Given the description of an element on the screen output the (x, y) to click on. 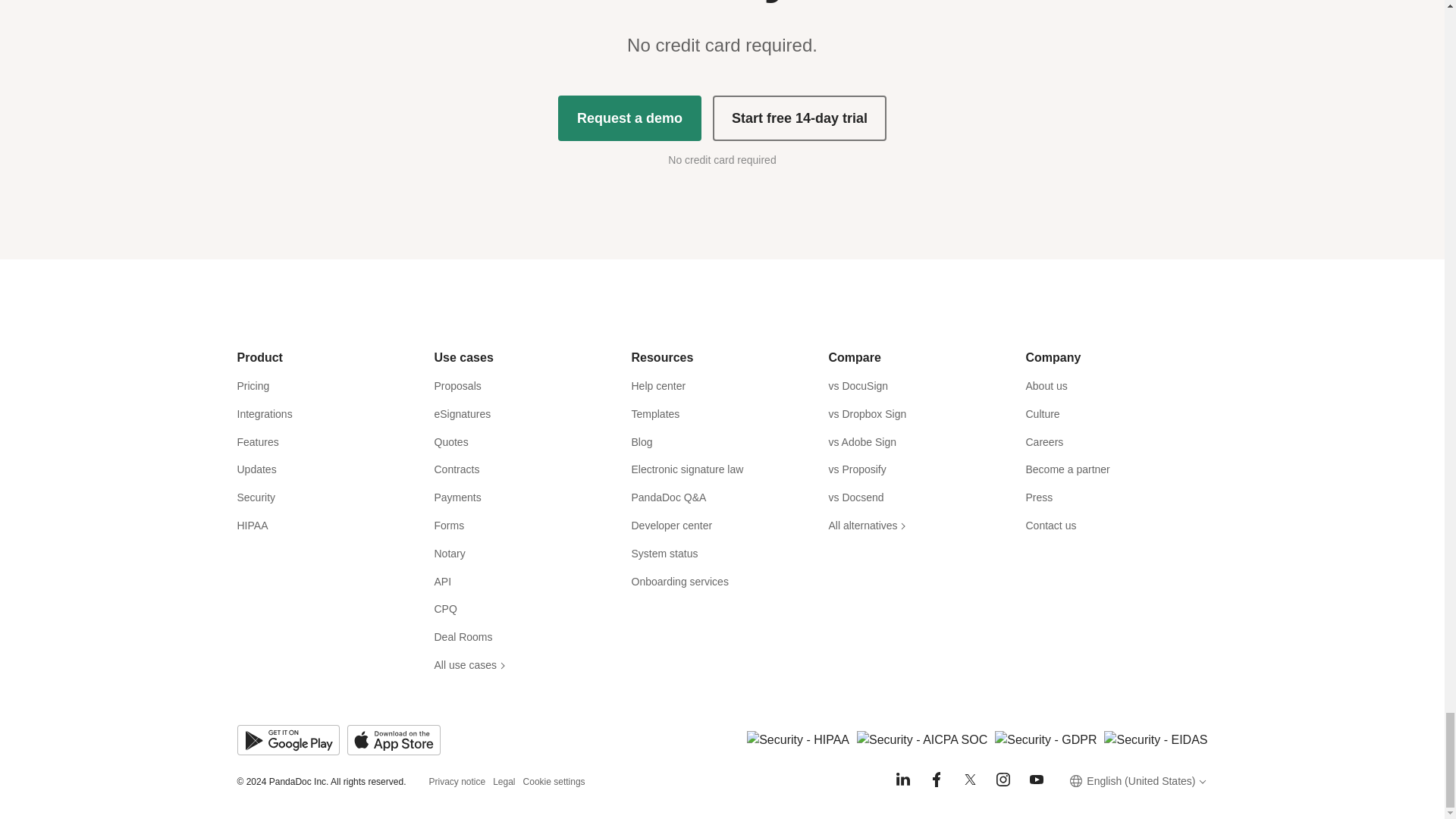
Twitter (969, 779)
Instagram (1002, 779)
LinkedIn (902, 779)
Youtube (1036, 779)
Facebook (935, 779)
